Given the description of an element on the screen output the (x, y) to click on. 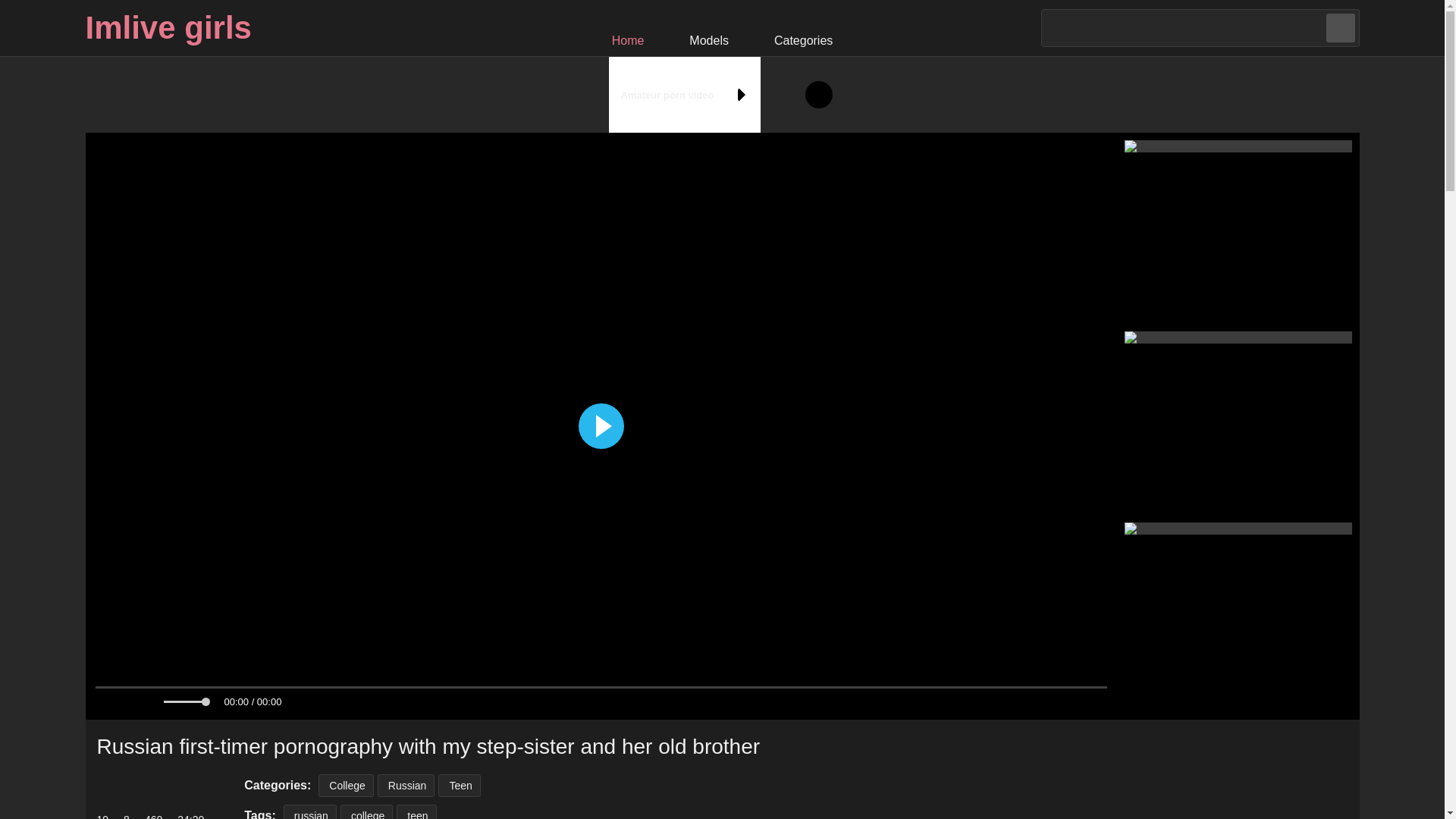
russian (309, 811)
college (366, 811)
teen (415, 811)
Imlive girls (167, 27)
Russian (406, 784)
Search (1339, 27)
Models (708, 27)
Teen (459, 784)
College (345, 784)
Amateur porn video (721, 94)
